Given the description of an element on the screen output the (x, y) to click on. 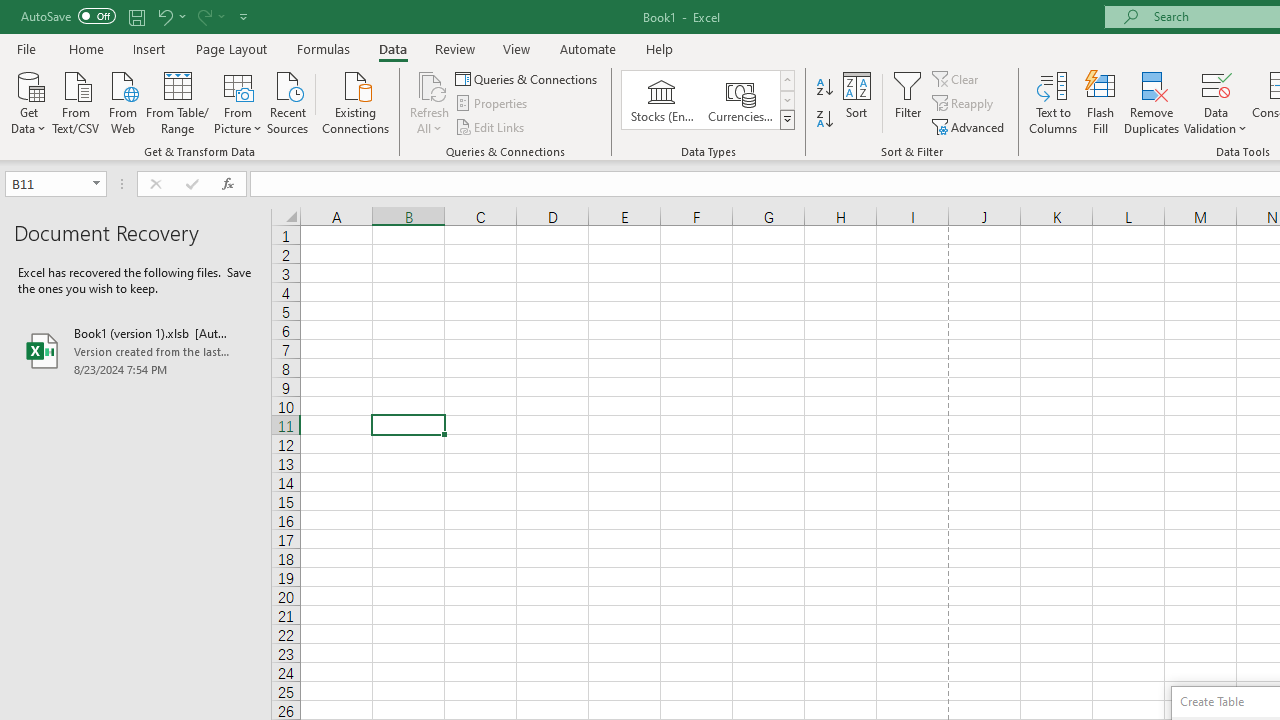
Queries & Connections (527, 78)
Sort... (856, 102)
Reapply (964, 103)
Row Down (786, 100)
Data Types (786, 120)
Sort A to Z (824, 87)
